Given the description of an element on the screen output the (x, y) to click on. 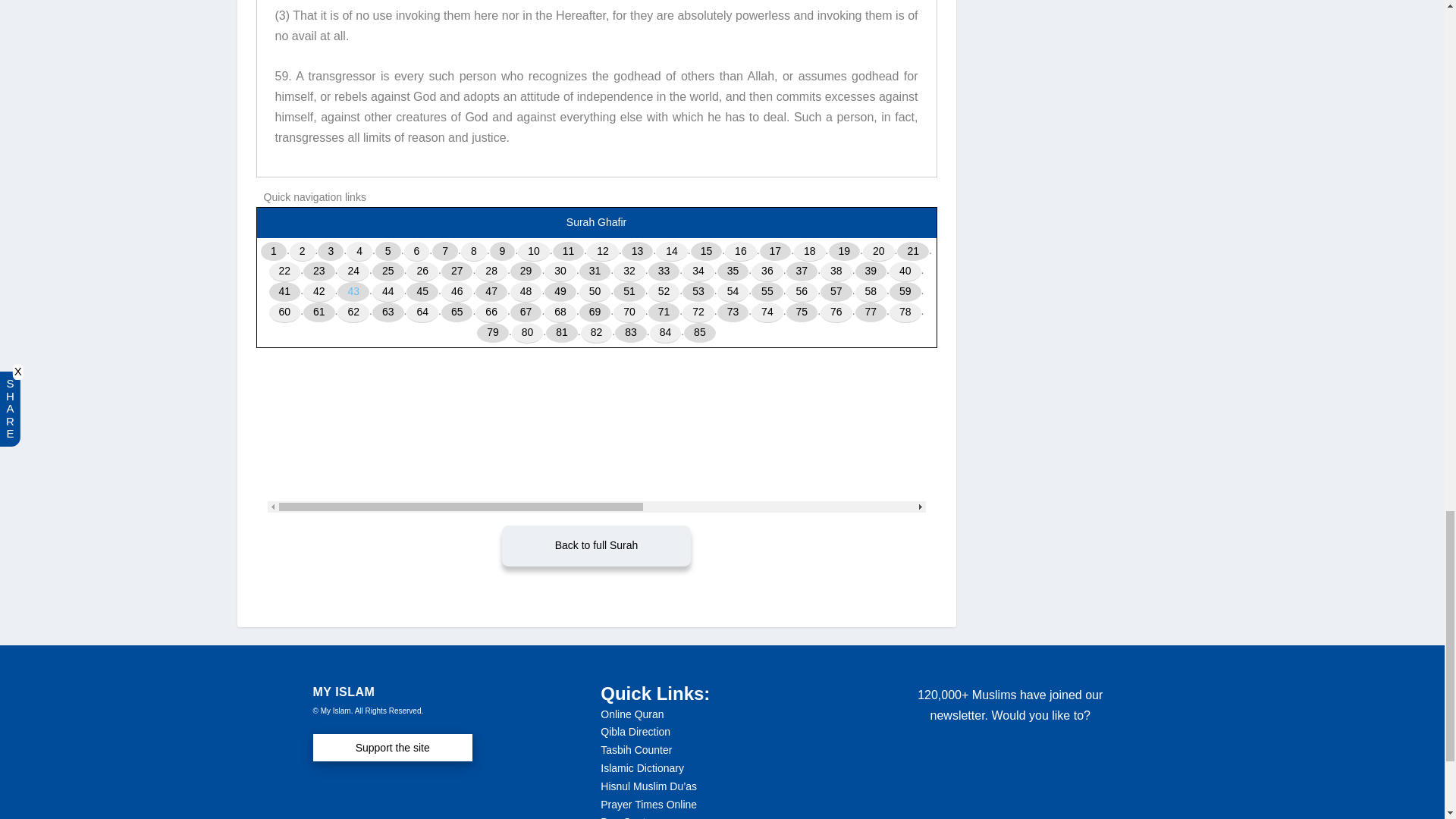
11 (569, 251)
1 (273, 251)
8 (473, 251)
9 (502, 251)
10 (534, 251)
5 (388, 251)
4 (359, 251)
7 (445, 251)
6 (416, 251)
2 (302, 251)
